Given the description of an element on the screen output the (x, y) to click on. 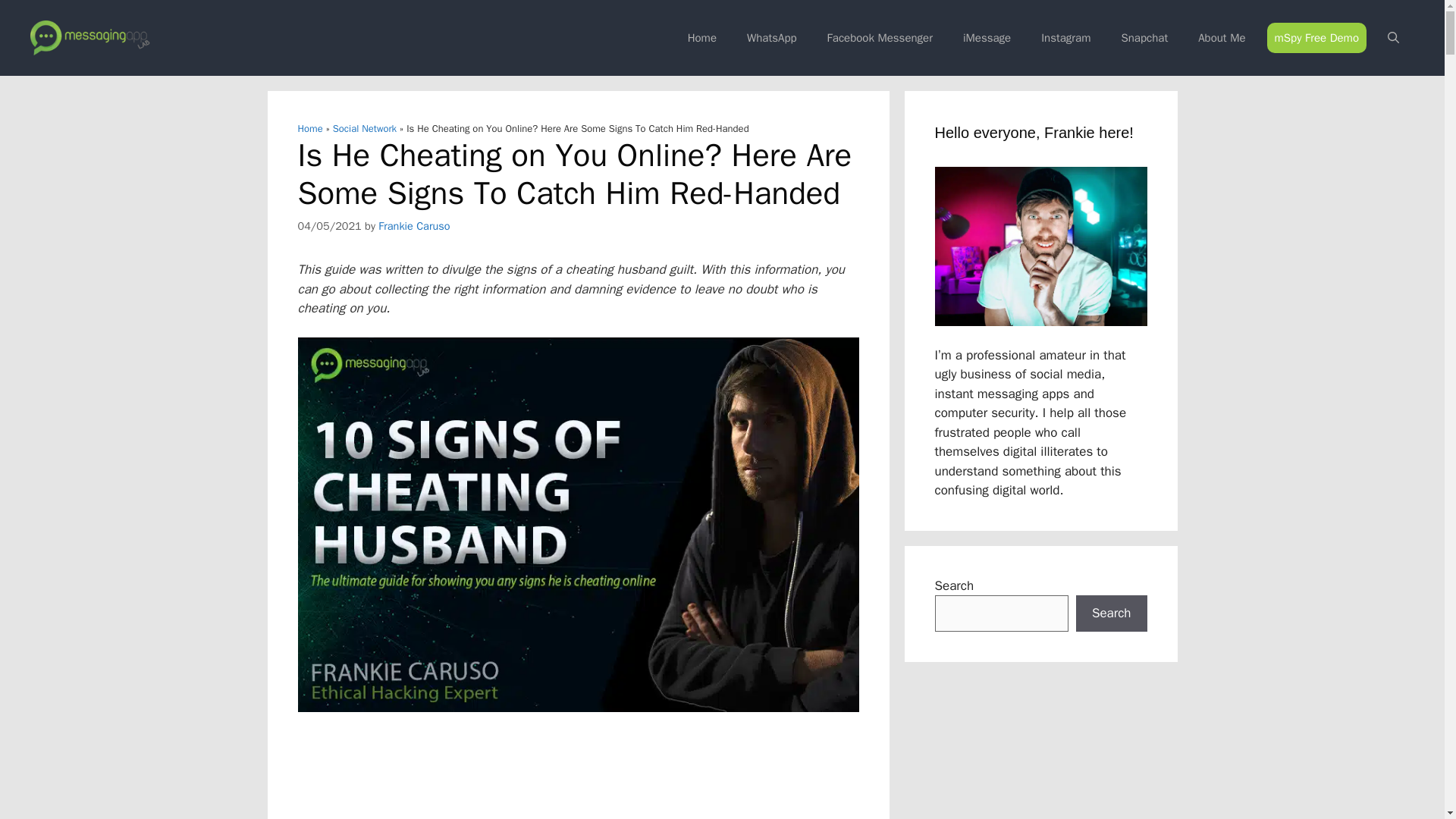
Social Network (364, 128)
WhatsApp (772, 37)
Facebook Messenger (879, 37)
Frankie Caruso (413, 224)
mSpy Free Demo (1316, 37)
View all posts by Frankie Caruso (413, 224)
About Me (1221, 37)
iMessage (986, 37)
Advertisement (585, 775)
Instagram (1065, 37)
